Given the description of an element on the screen output the (x, y) to click on. 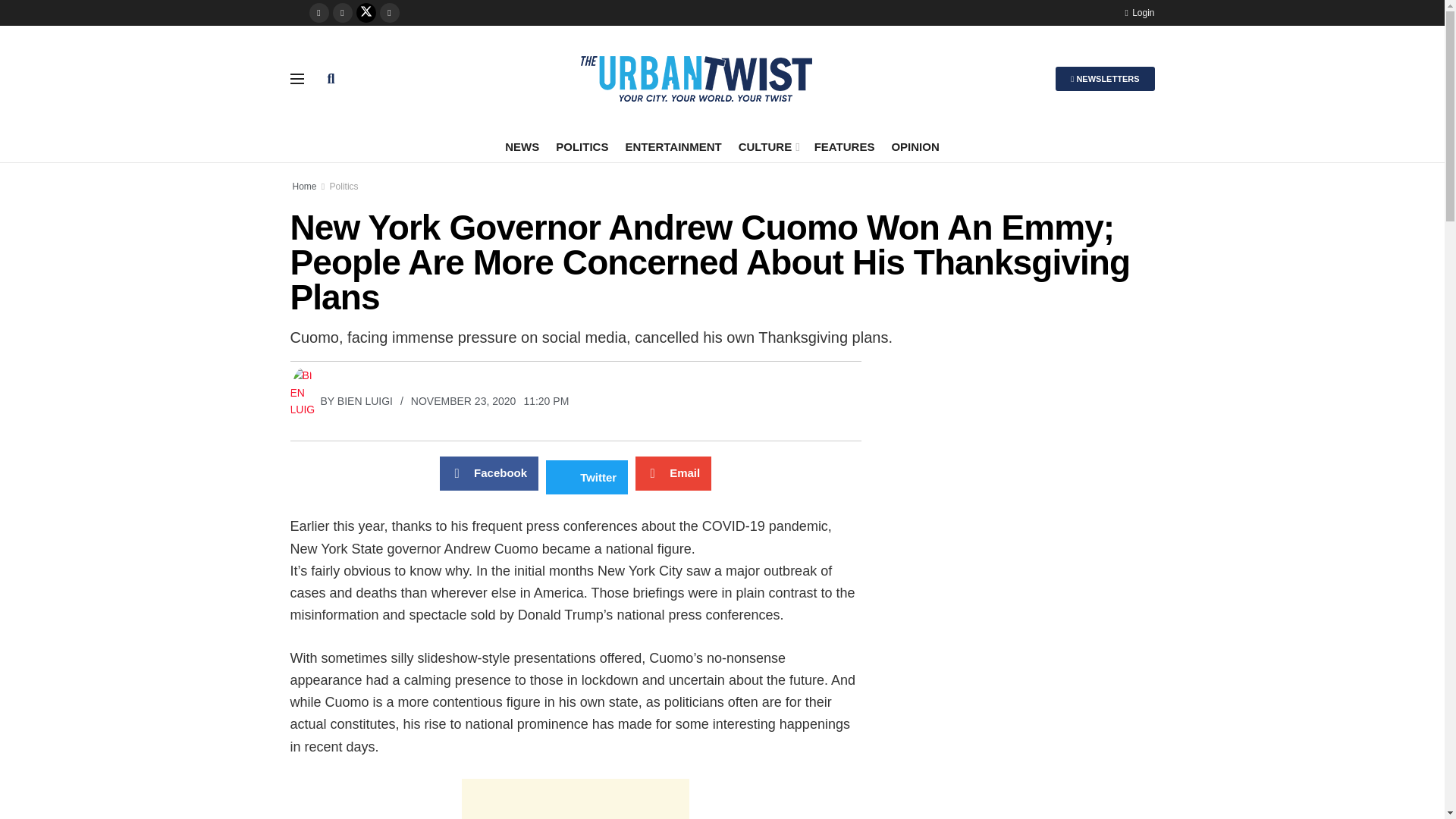
POLITICS (582, 146)
ENTERTAINMENT (672, 146)
BY BIEN LUIGI (340, 400)
Login (1139, 12)
CULTURE (767, 146)
FEATURES (844, 146)
NEWS (521, 146)
NEWSLETTERS (1104, 78)
Politics (344, 185)
OPINION (915, 146)
